Given the description of an element on the screen output the (x, y) to click on. 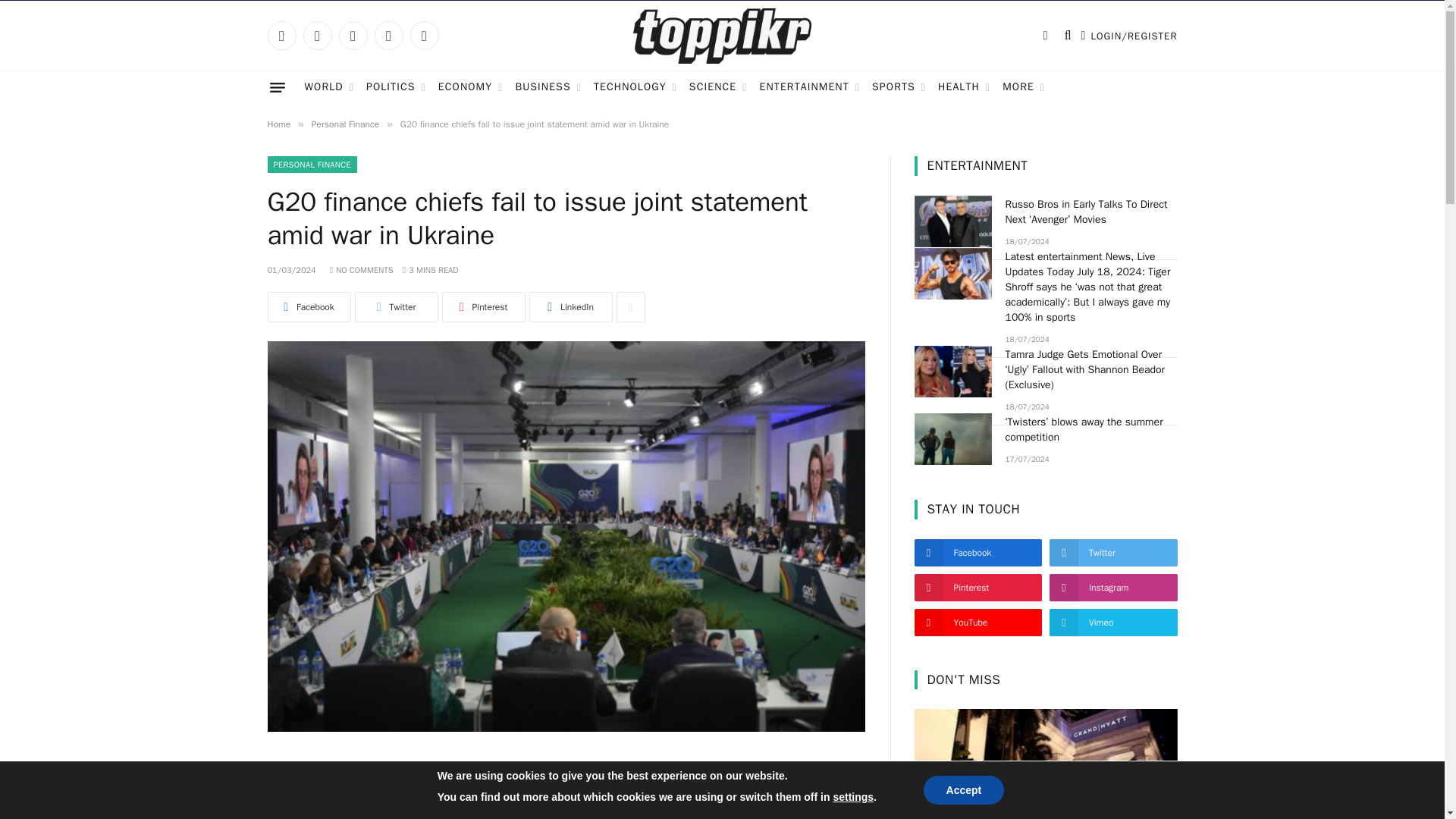
Toppikr (721, 35)
Switch to Dark Design - easier on eyes. (1045, 35)
Facebook (280, 35)
